Given the description of an element on the screen output the (x, y) to click on. 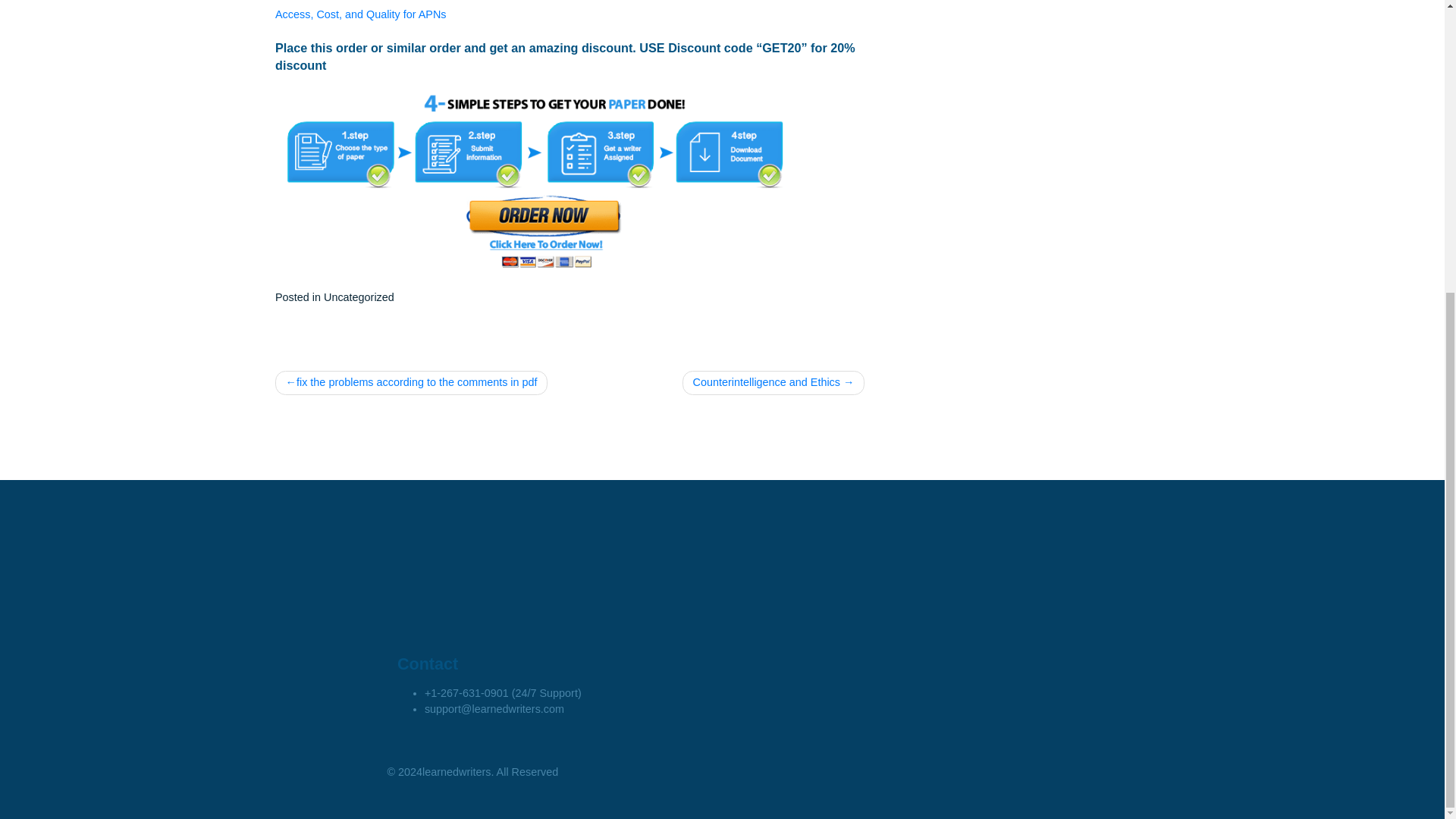
fix the problems according to the comments in pdf (456, 474)
Access, Cost, and Quality for APNs (400, 65)
Counterintelligence and Ethics (859, 474)
